Given the description of an element on the screen output the (x, y) to click on. 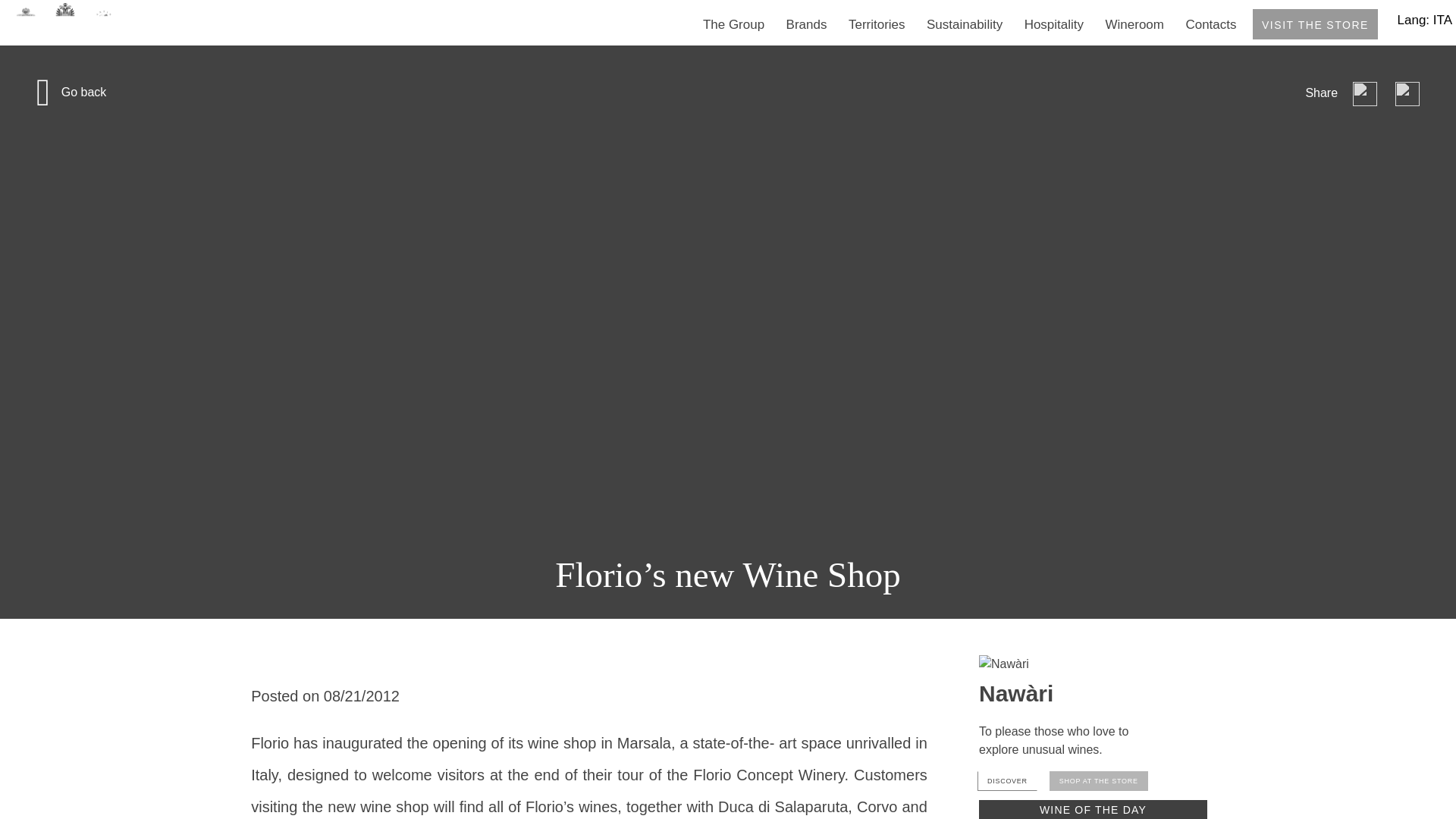
Sustainability (964, 24)
DISCOVER (1006, 781)
SHOP AT THE STORE (1098, 781)
Territories (876, 24)
Brands (806, 24)
Hospitality (1054, 24)
Go back (83, 91)
Wineroom (1134, 24)
Contacts (1210, 24)
VISIT THE STORE (1315, 24)
The Group (733, 24)
